Given the description of an element on the screen output the (x, y) to click on. 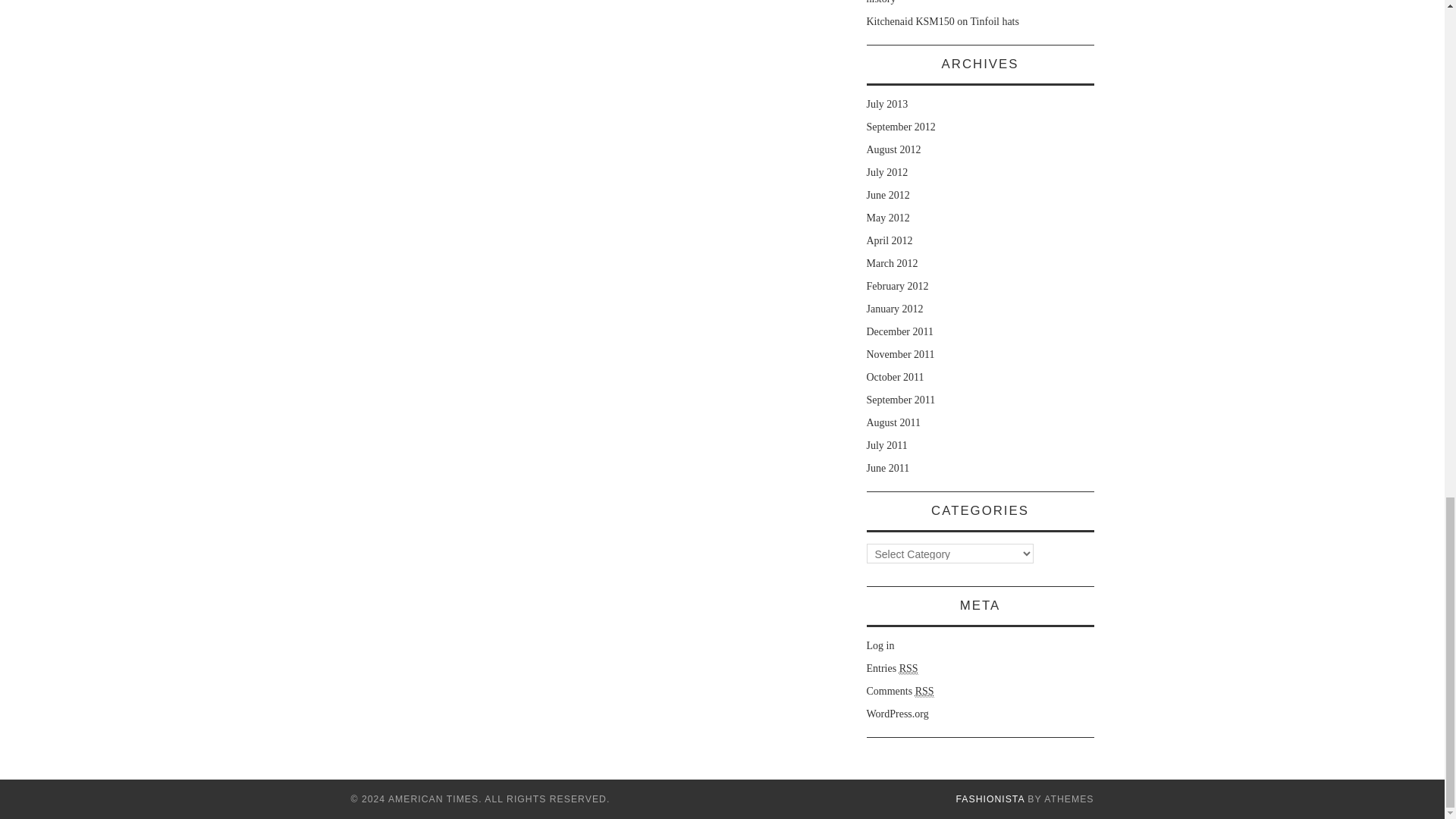
Really Simple Syndication (908, 668)
Really Simple Syndication (924, 691)
